Given the description of an element on the screen output the (x, y) to click on. 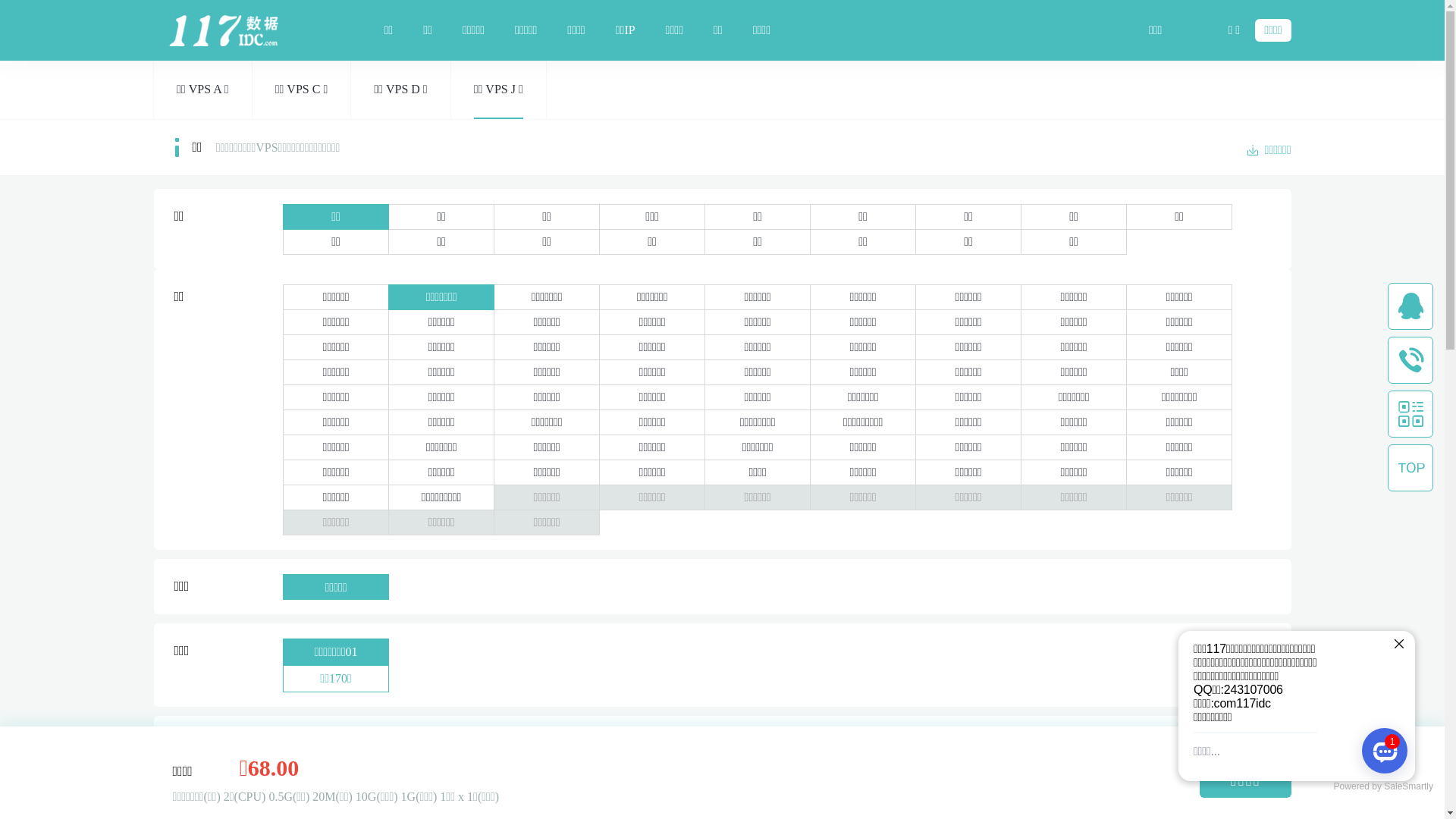
qq Element type: hover (1410, 305)
